Given the description of an element on the screen output the (x, y) to click on. 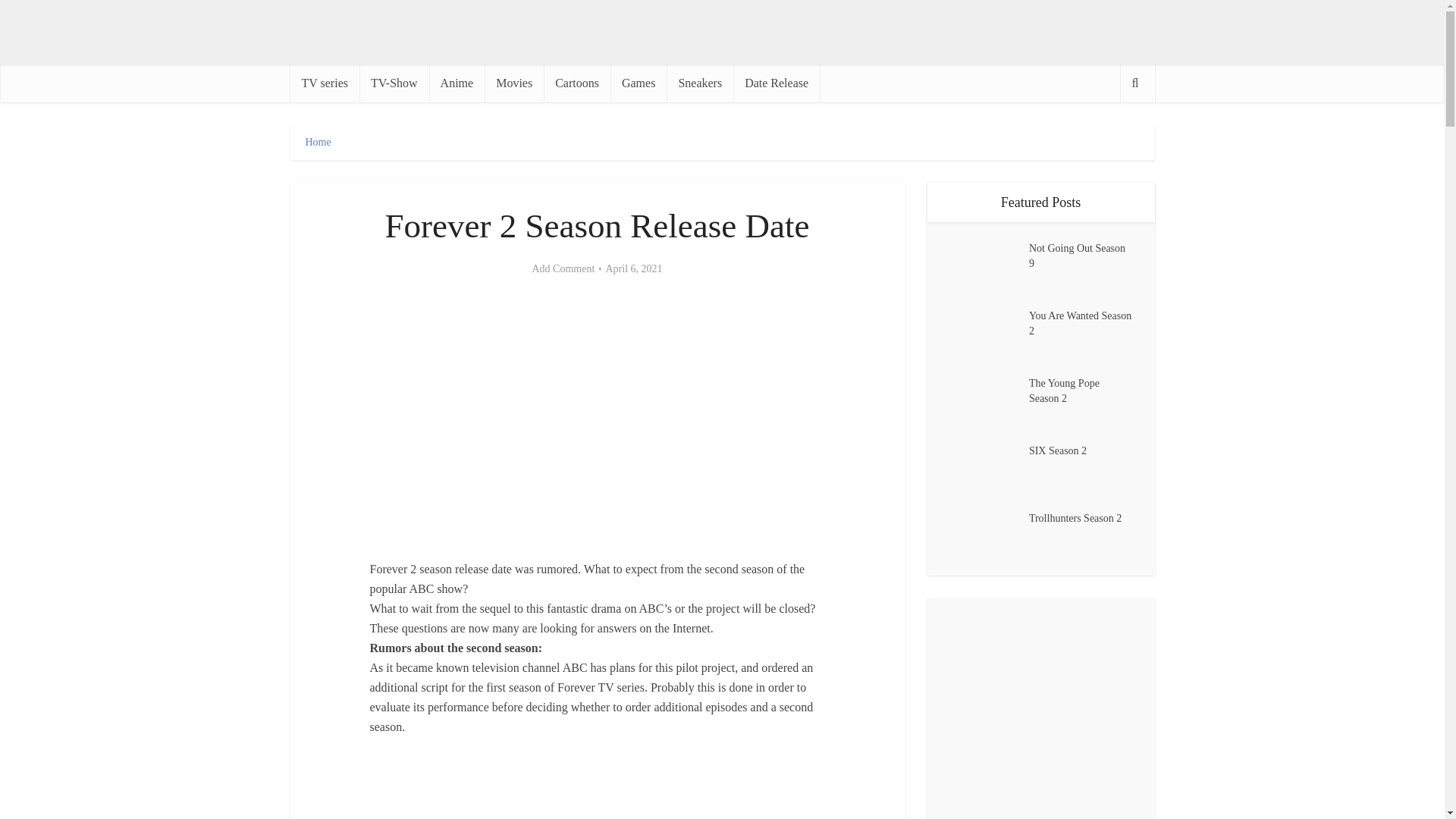
Sneakers (699, 83)
TV-Show (394, 83)
TV series (323, 83)
Forever 2 season release date (596, 408)
Add Comment (562, 269)
Home (317, 142)
Cartoons (576, 83)
Date Release (776, 83)
Forever 2 season release date was rumored (597, 789)
Games (638, 83)
Movies (513, 83)
Anime (456, 83)
